Given the description of an element on the screen output the (x, y) to click on. 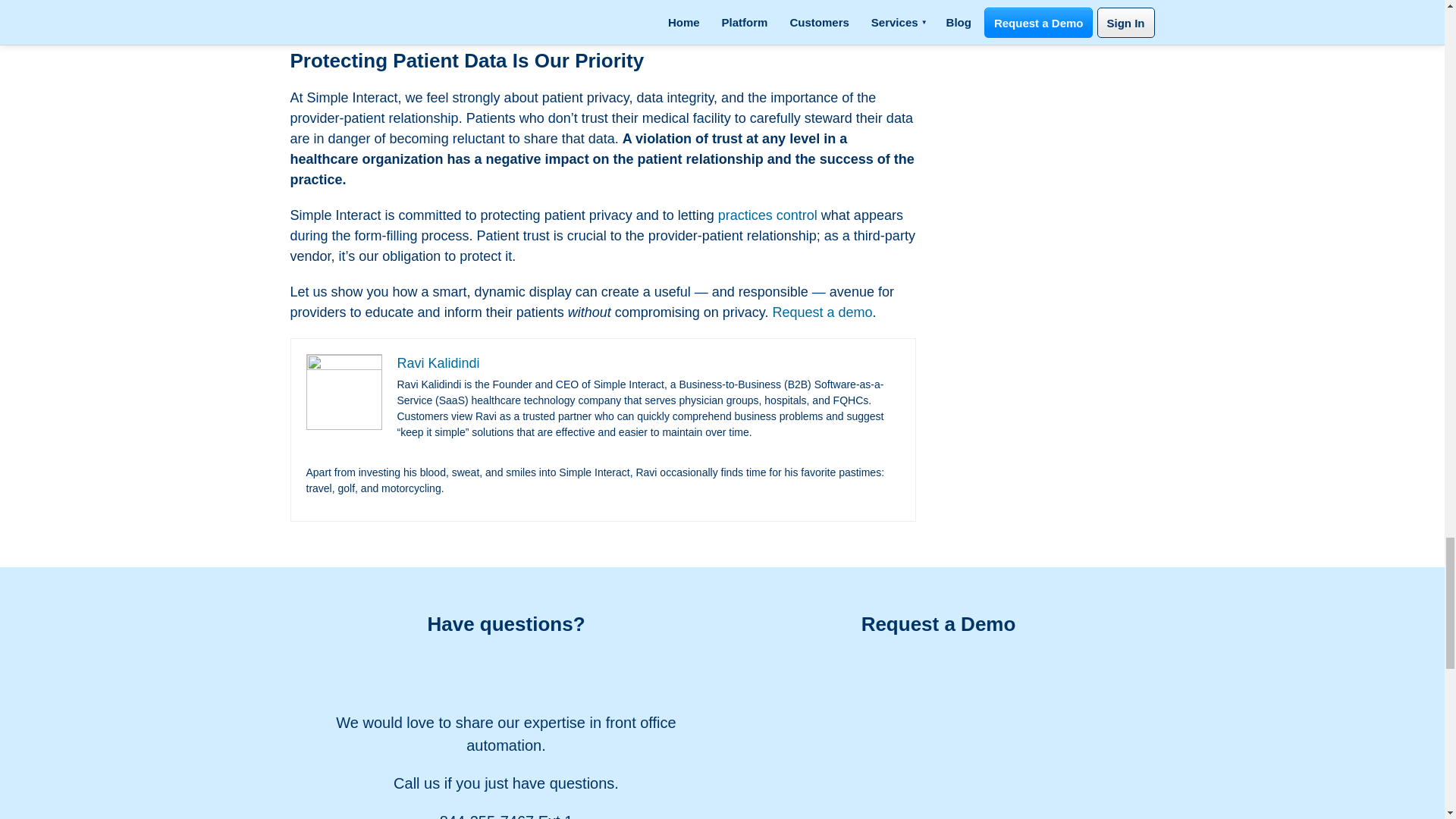
Ravi Kalidindi (438, 363)
Request a demo (822, 312)
practices control (766, 215)
